Given the description of an element on the screen output the (x, y) to click on. 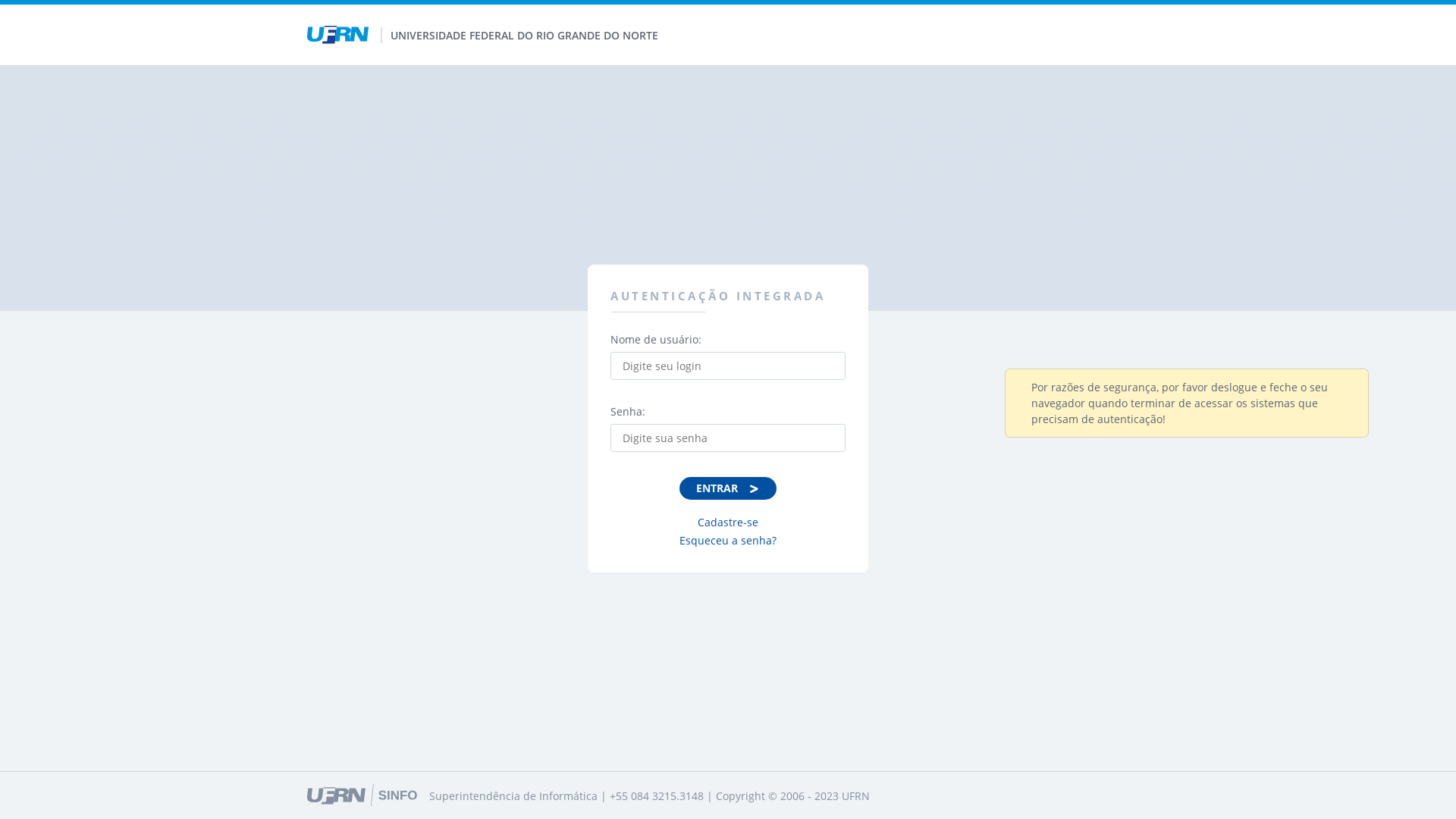
Esqueceu a senha? Element type: text (727, 540)
ENTRAR Element type: text (728, 487)
Ir para o Portal da UFRN Element type: hover (343, 34)
Cadastre-se Element type: text (727, 522)
Ir para o site da SINFO Element type: hover (362, 795)
